Given the description of an element on the screen output the (x, y) to click on. 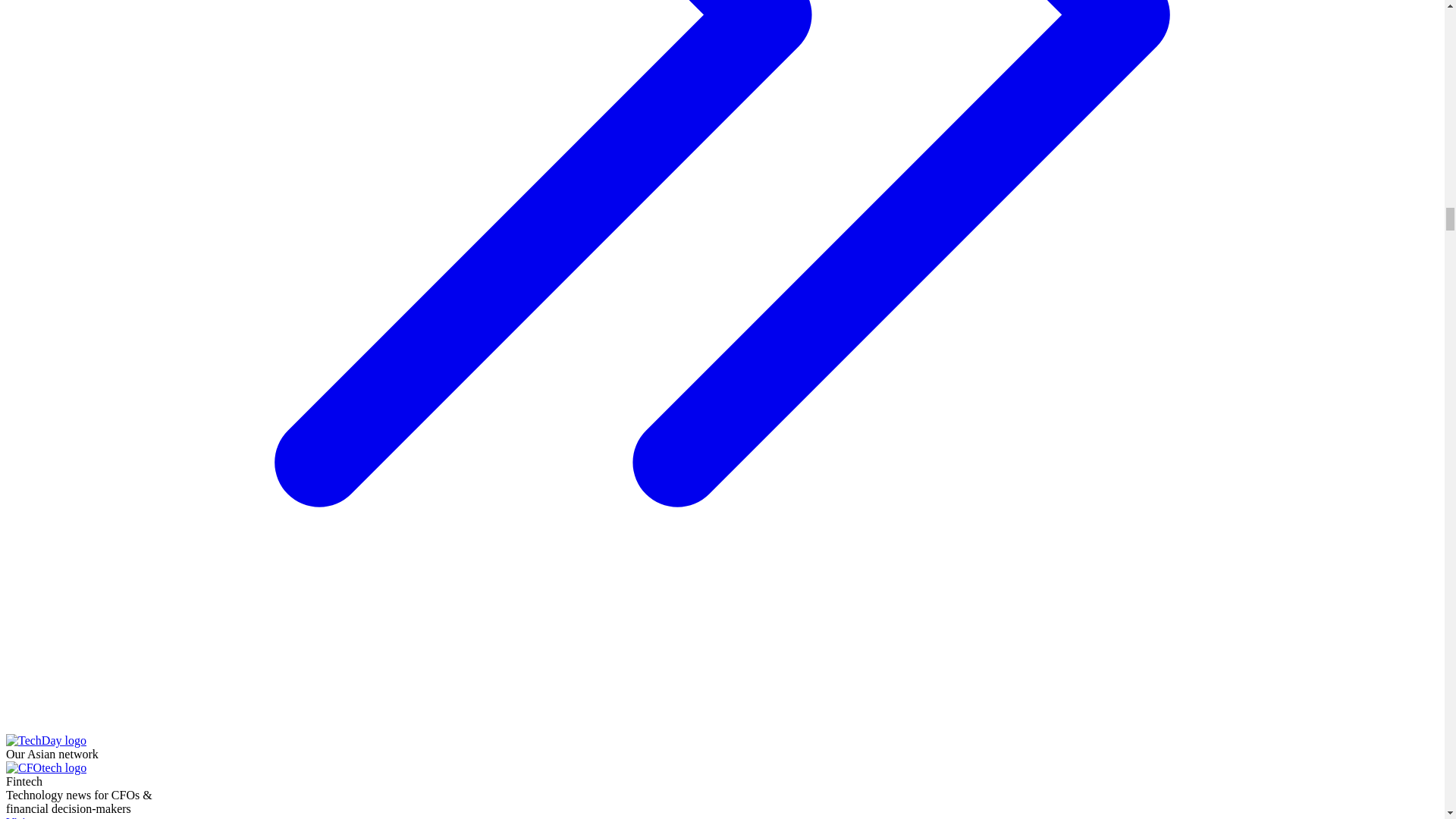
Visit (85, 817)
